Given the description of an element on the screen output the (x, y) to click on. 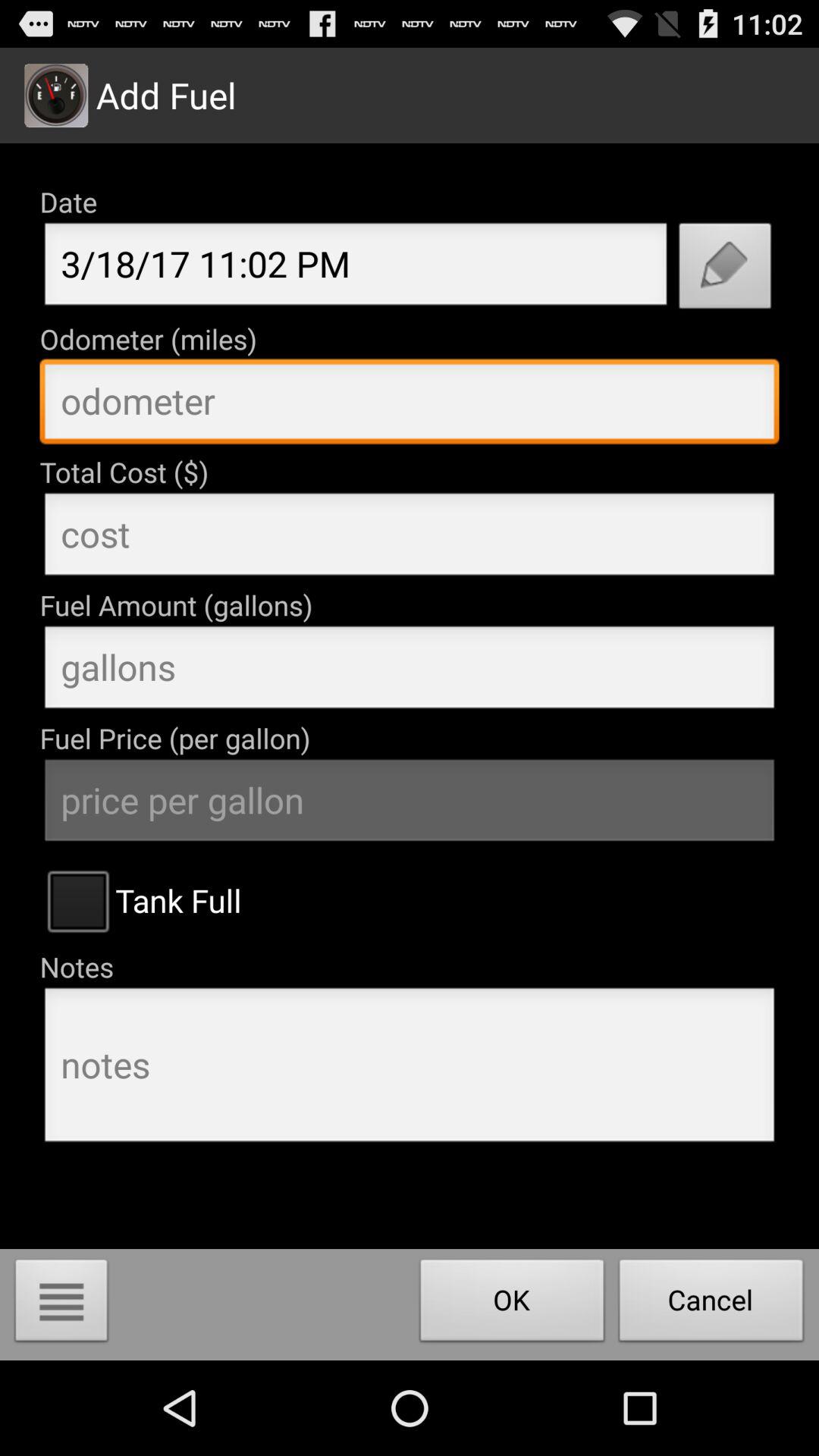
insert cost (409, 538)
